Given the description of an element on the screen output the (x, y) to click on. 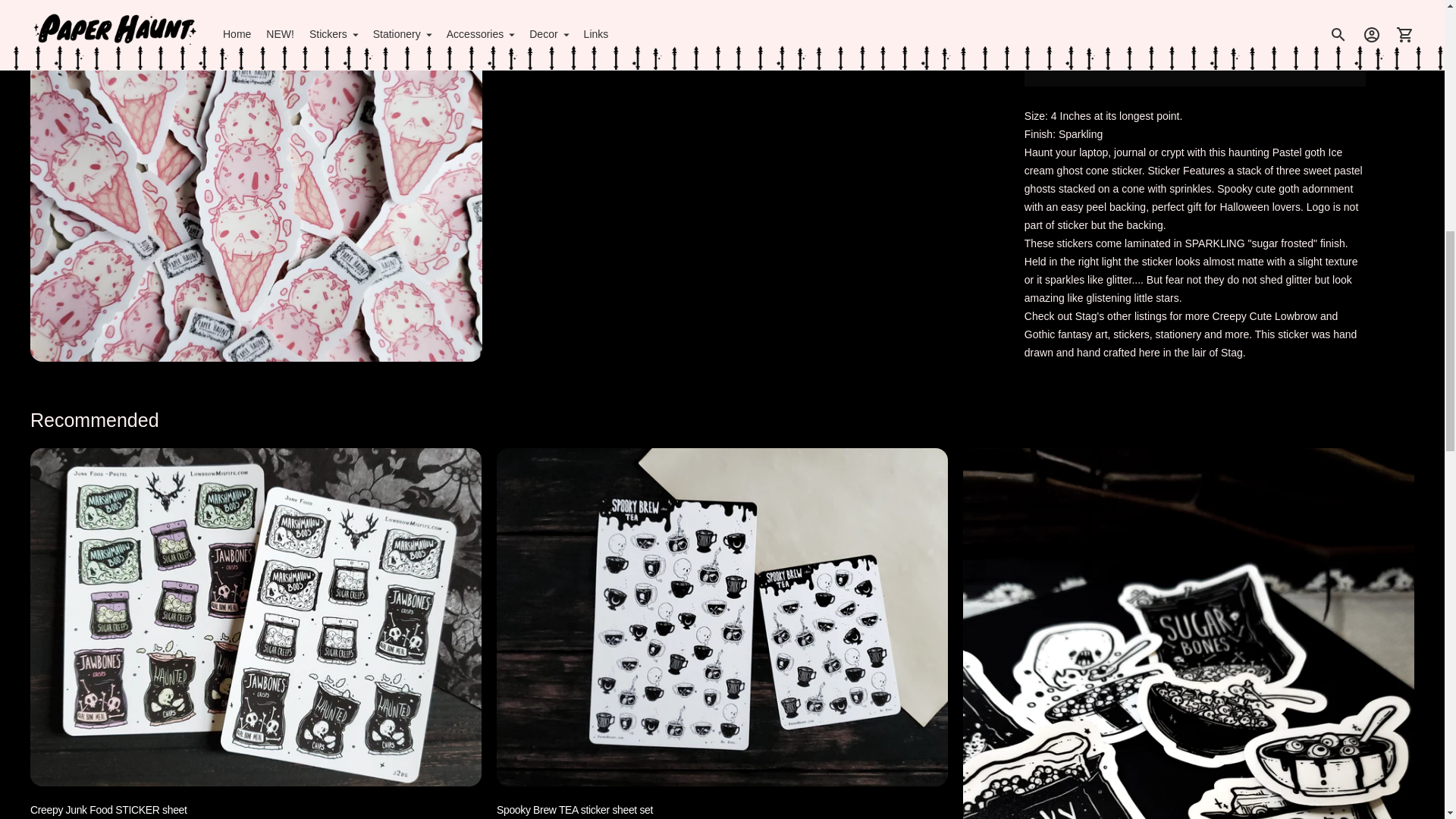
Open Image (255, 4)
Open Image (723, 4)
